Given the description of an element on the screen output the (x, y) to click on. 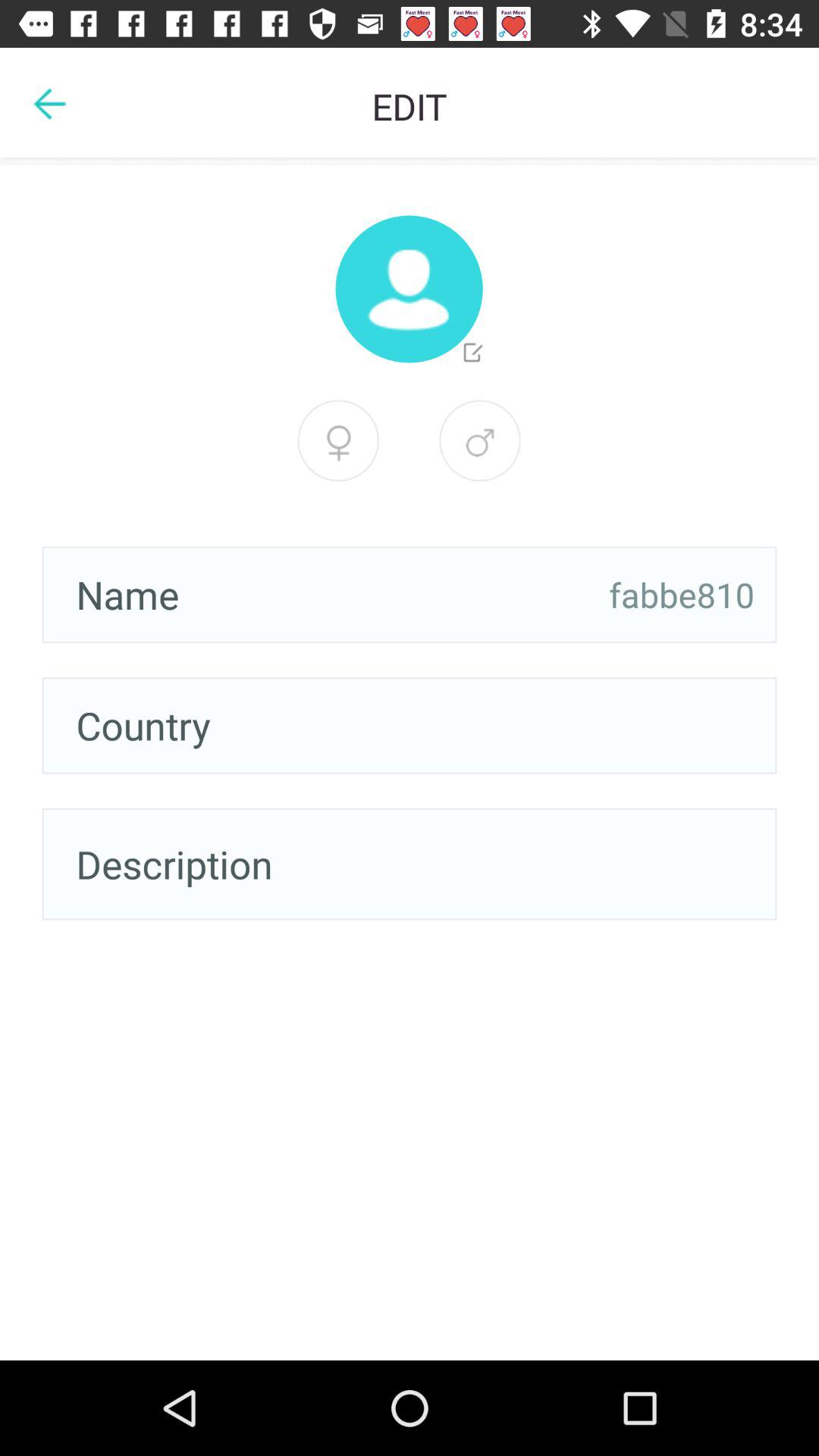
jump to fabbe810 item (681, 594)
